Given the description of an element on the screen output the (x, y) to click on. 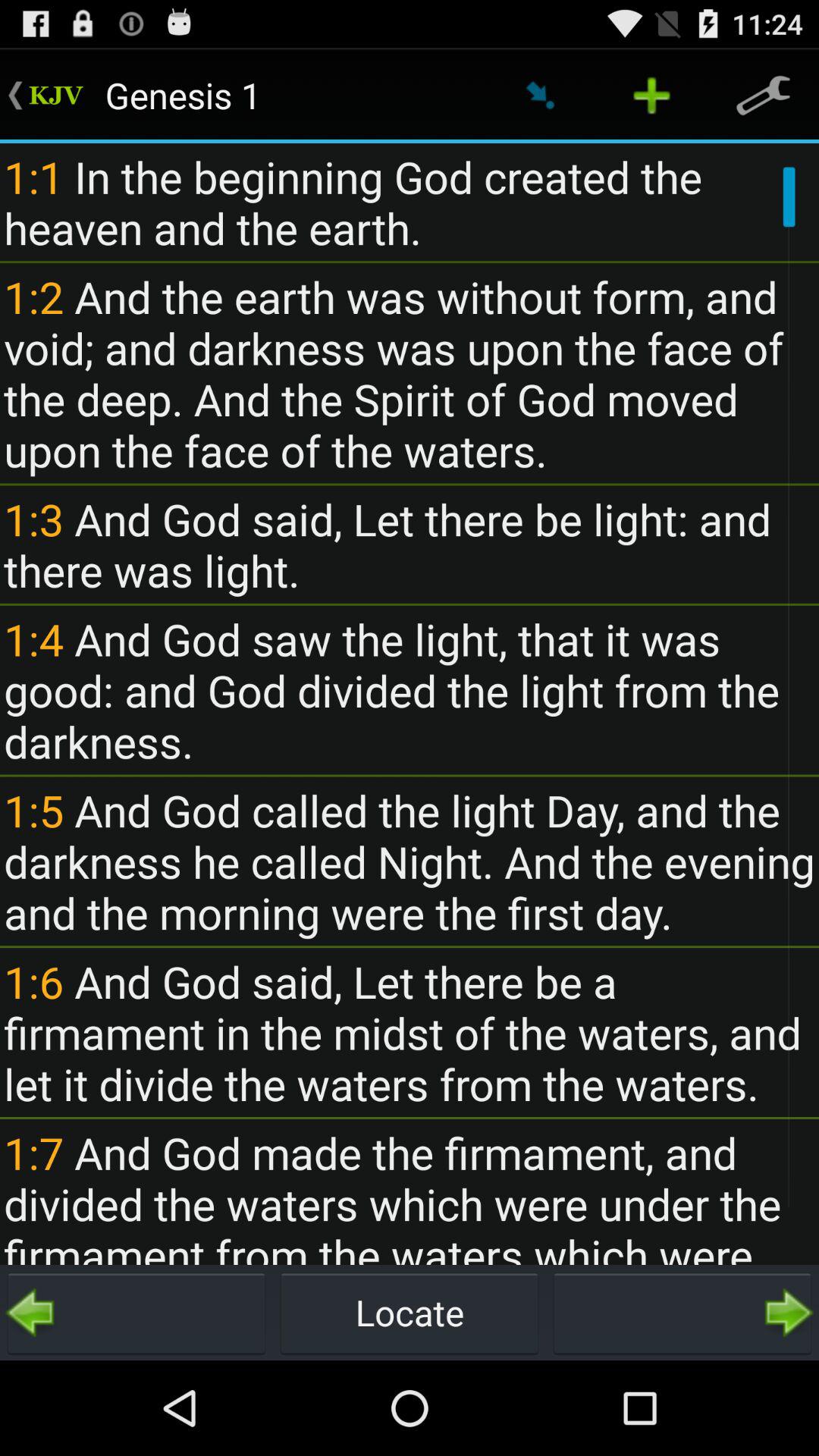
launch the icon below 1 7 and app (136, 1312)
